Given the description of an element on the screen output the (x, y) to click on. 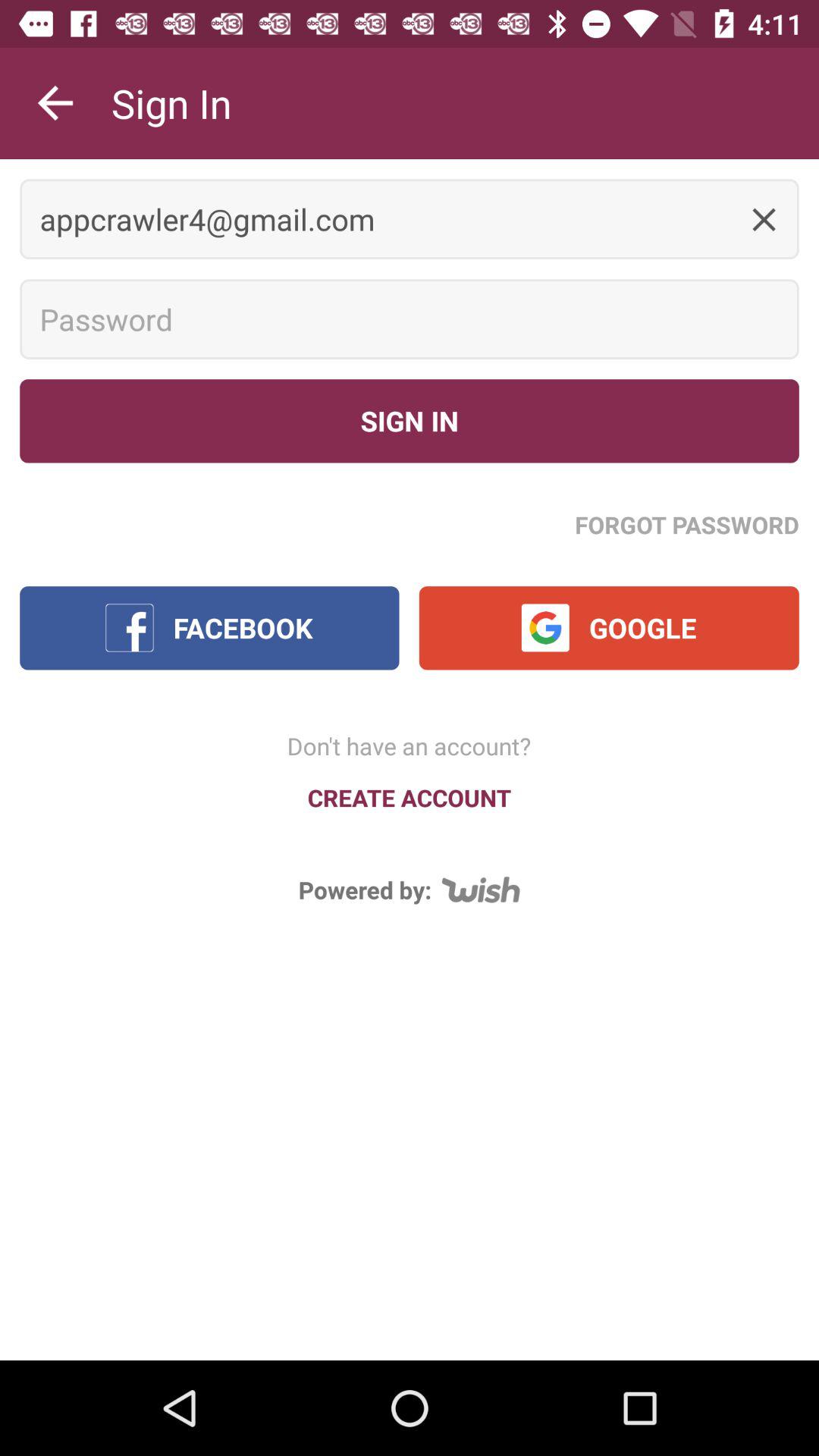
press icon below sign in (687, 524)
